Given the description of an element on the screen output the (x, y) to click on. 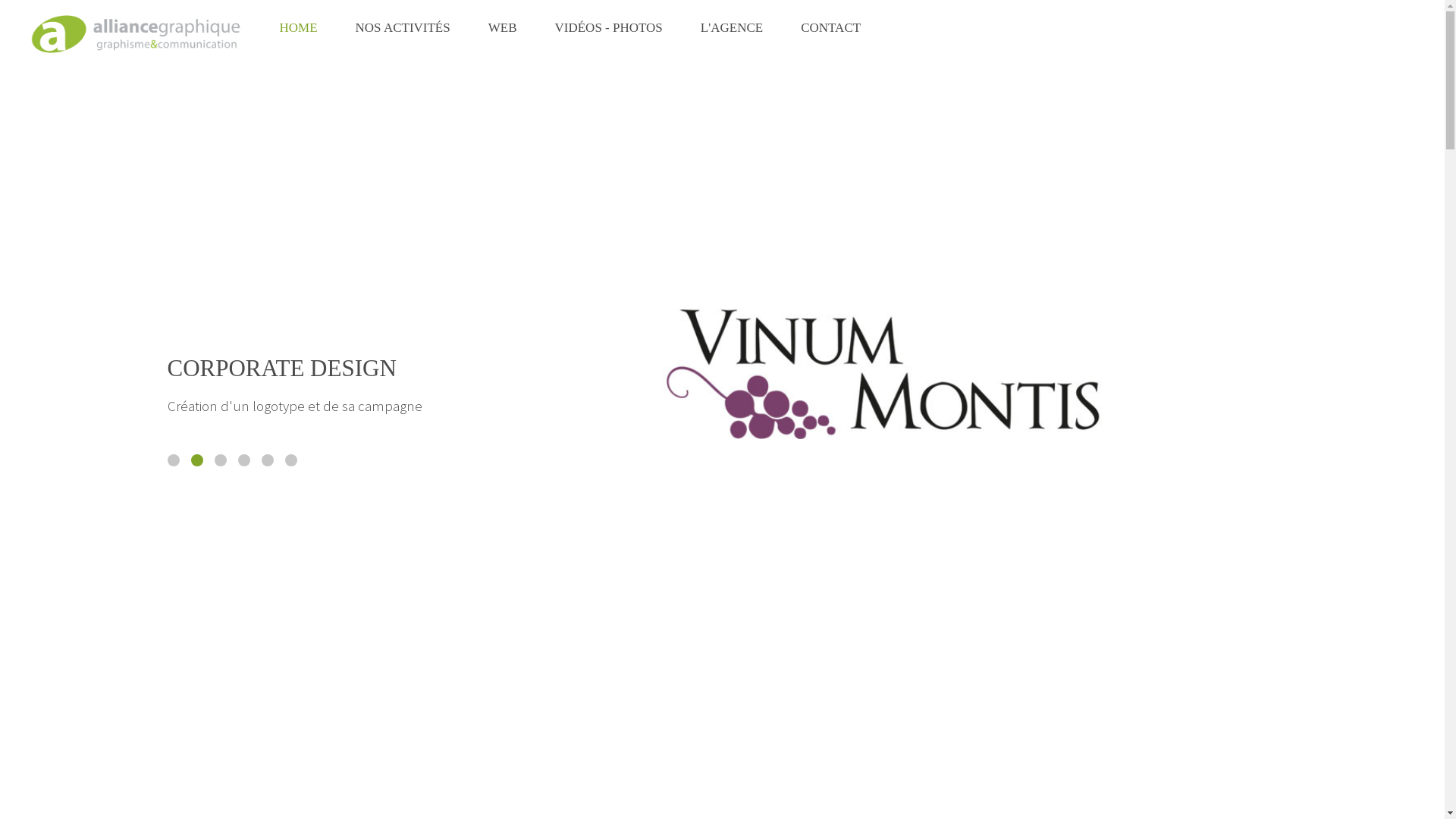
Vinum Element type: text (291, 459)
Oleah Element type: text (266, 459)
Eticolle Element type: text (219, 459)
WEB Element type: text (502, 27)
HOME Element type: text (298, 27)
Chiesa Element type: text (244, 459)
Corporate design Element type: text (197, 459)
CONTACT Element type: text (830, 27)
Grappa Fz Element type: text (172, 459)
L'AGENCE Element type: text (731, 27)
